Given the description of an element on the screen output the (x, y) to click on. 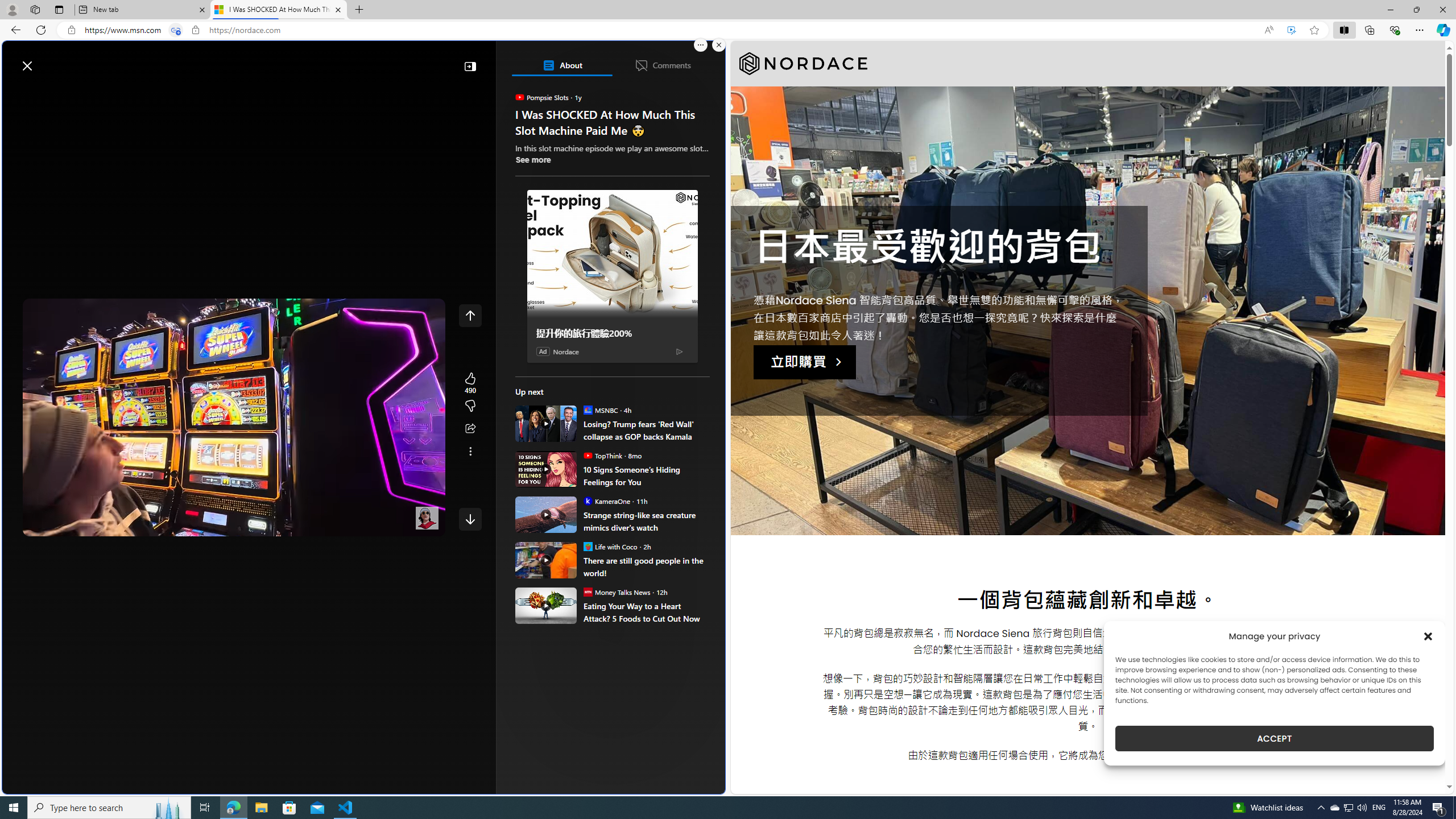
Channel watermark (427, 517)
Eating Your Way to a Heart Attack? 5 Foods to Cut Out Now (646, 611)
The Associated Press (554, 366)
Pause (k) (42, 525)
There are still good people in the world! (646, 566)
